Given the description of an element on the screen output the (x, y) to click on. 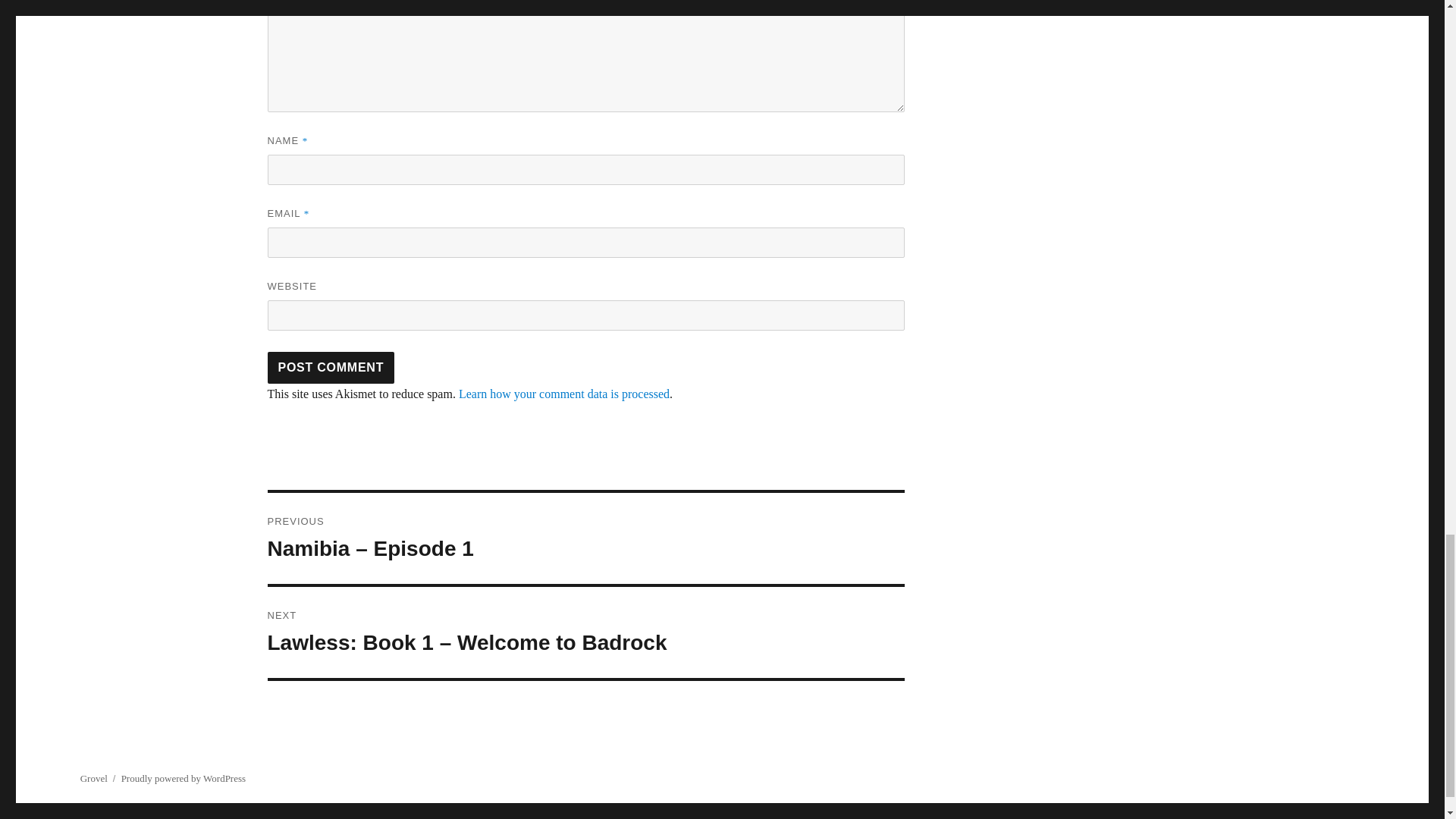
Post Comment (330, 368)
Learn how your comment data is processed (563, 393)
Post Comment (330, 368)
